Given the description of an element on the screen output the (x, y) to click on. 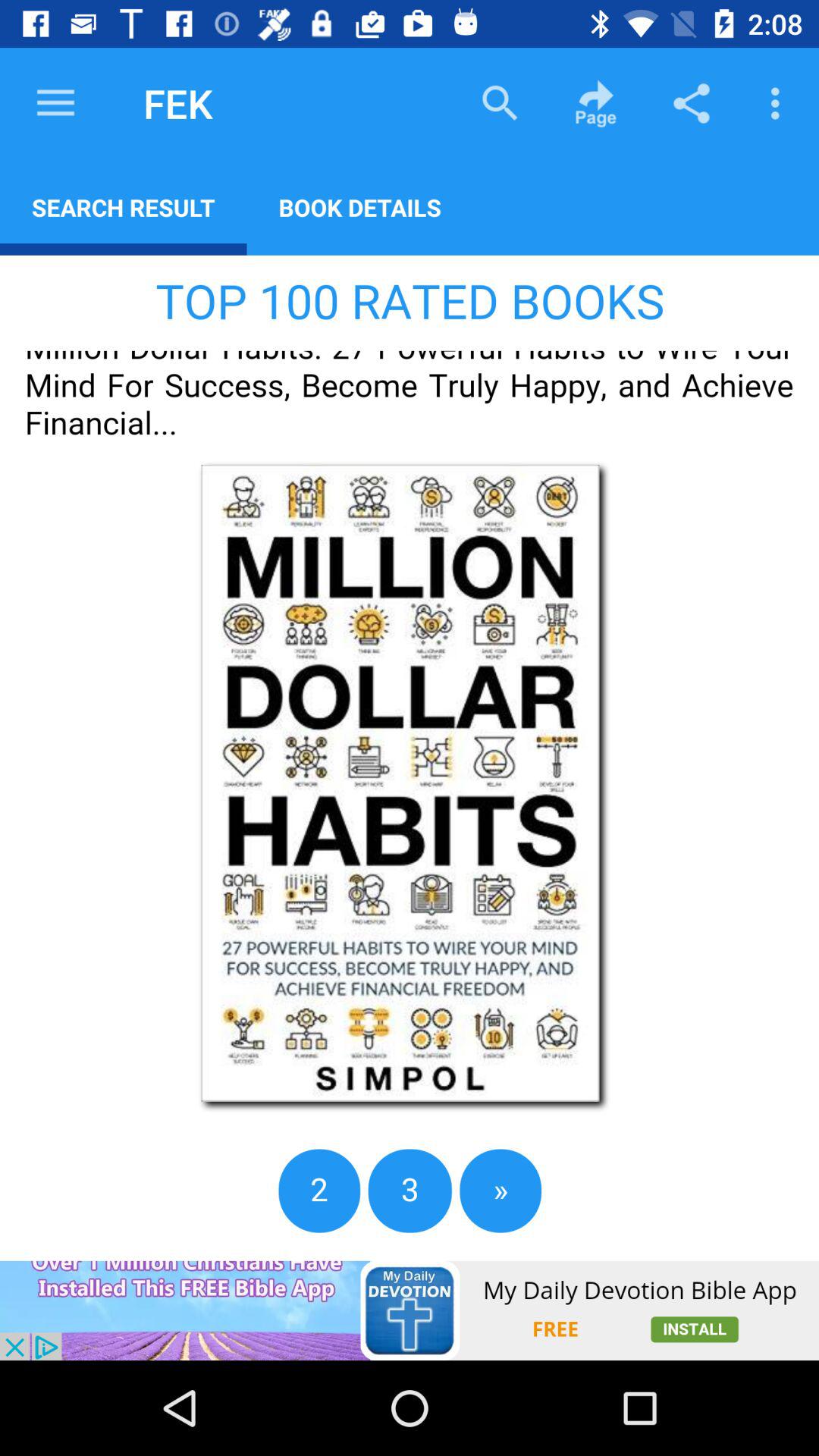
open advertisement (409, 1310)
